Given the description of an element on the screen output the (x, y) to click on. 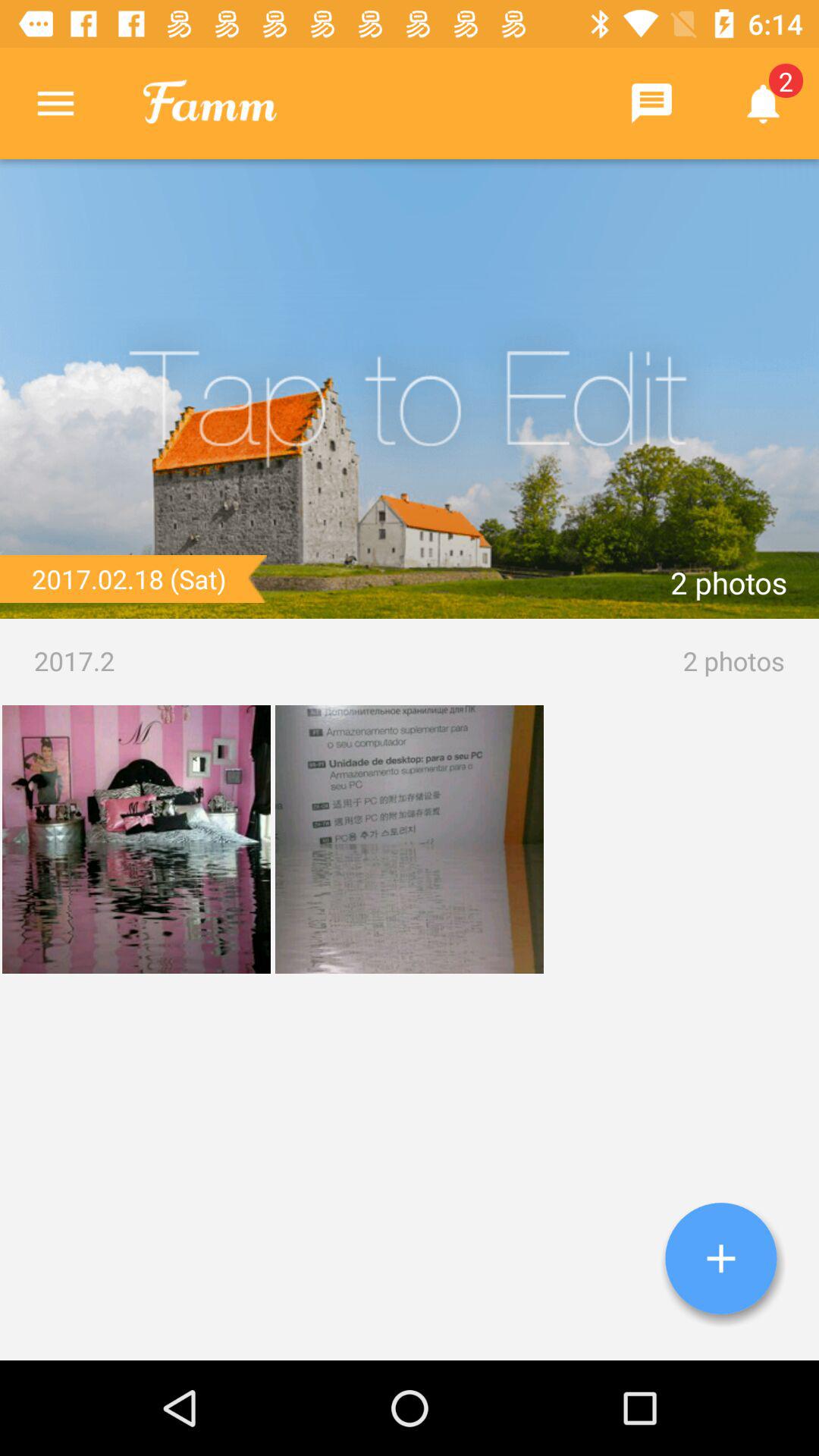
select the icon below the 2017.2 icon (721, 1258)
